Given the description of an element on the screen output the (x, y) to click on. 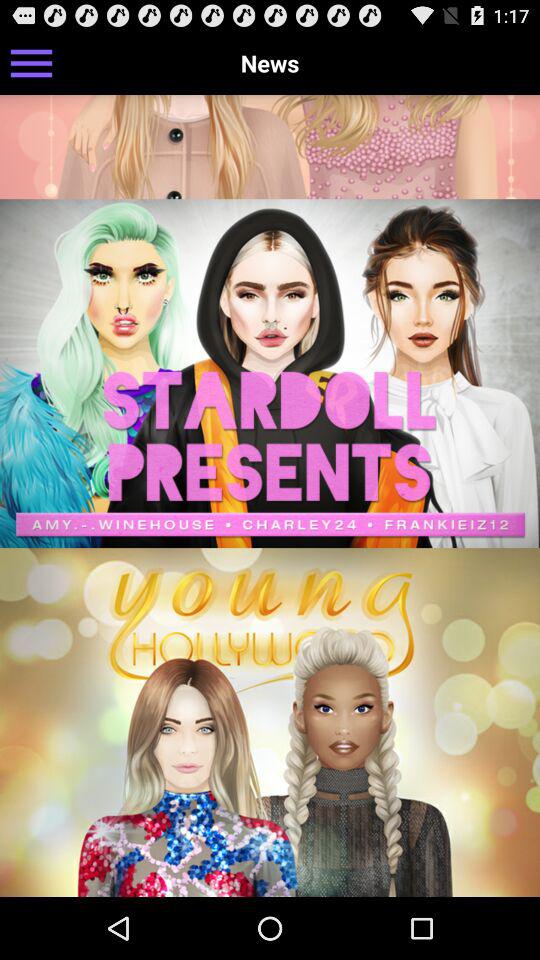
open menu (31, 62)
